Given the description of an element on the screen output the (x, y) to click on. 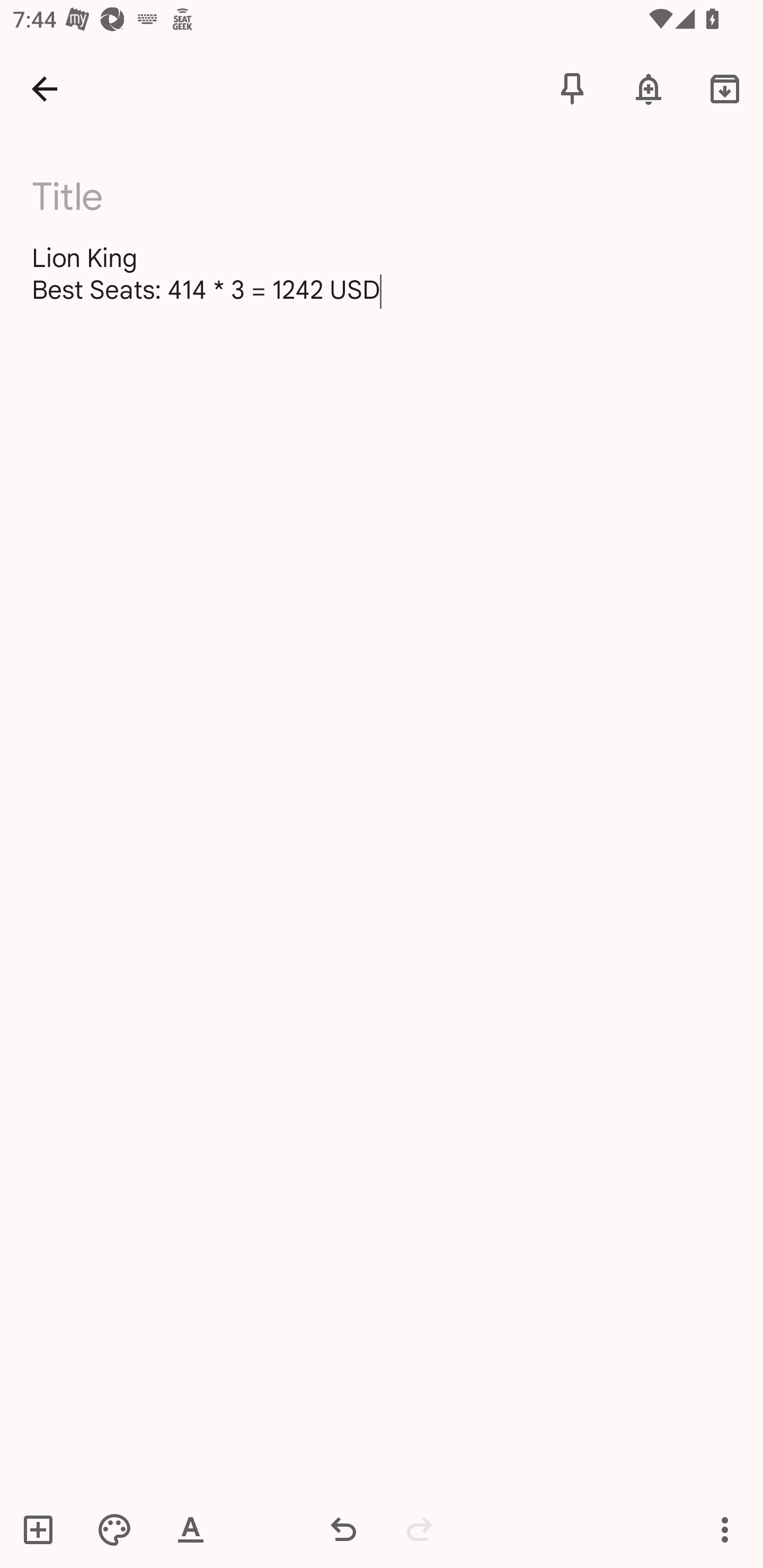
Navigate up (44, 88)
Pin (572, 88)
Reminder (648, 88)
Archive (724, 88)
Title (392, 196)
Lion King
Best Seats: 414 * 3 = 1242 USD (381, 273)
New list (44, 1529)
Theme (114, 1529)
Show formatting controls (190, 1529)
Undo (343, 1529)
Redo (419, 1529)
Action (724, 1529)
